Given the description of an element on the screen output the (x, y) to click on. 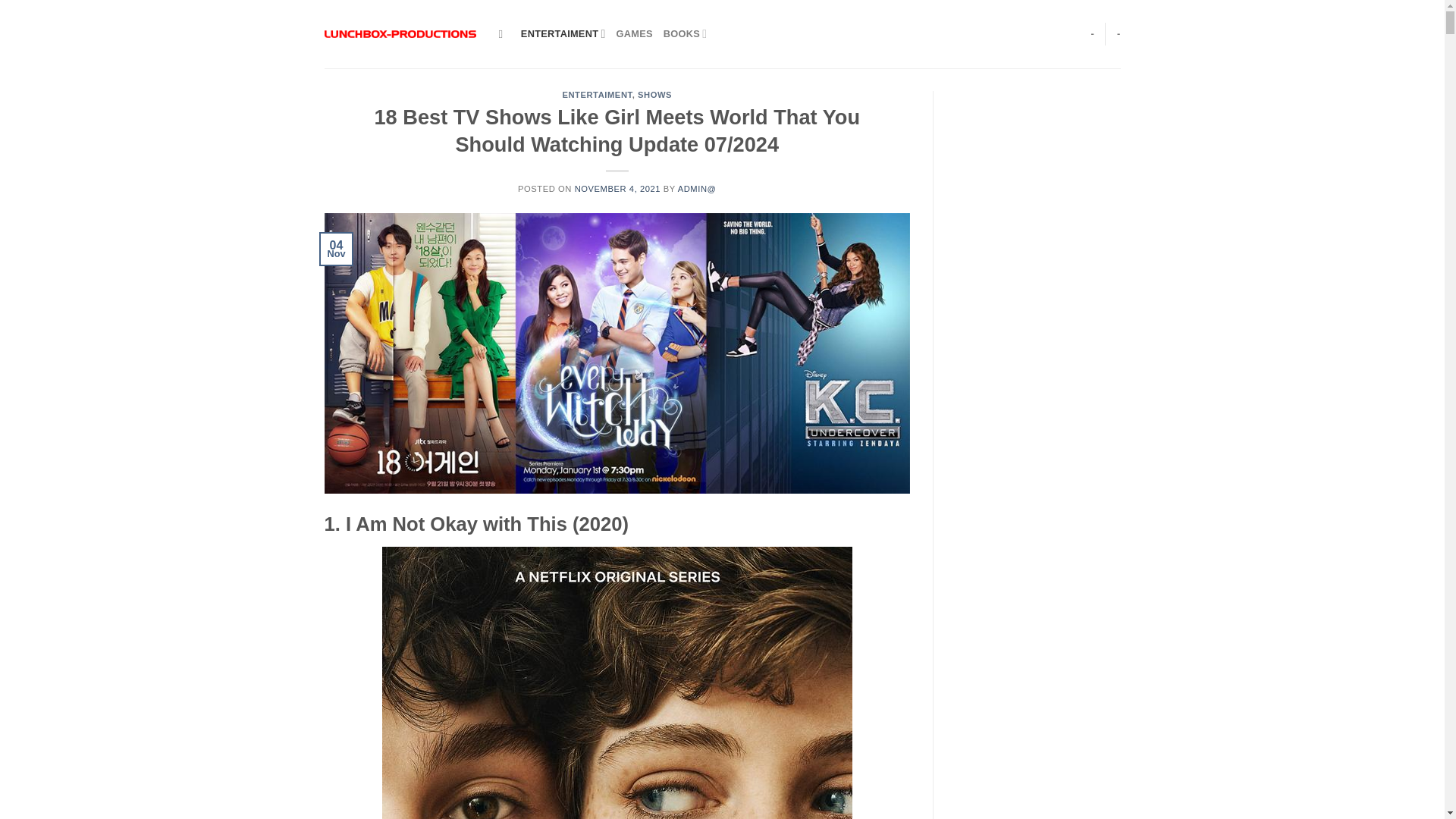
- (1092, 33)
SHOWS (654, 94)
ENTERTAIMENT (596, 94)
WooCommerce needed (1118, 33)
Lunchbox Theatrical Productions (400, 33)
ENTERTAIMENT (563, 33)
WooCommerce needed (1092, 33)
GAMES (633, 33)
- (1118, 33)
NOVEMBER 4, 2021 (618, 188)
BOOKS (685, 33)
